Given the description of an element on the screen output the (x, y) to click on. 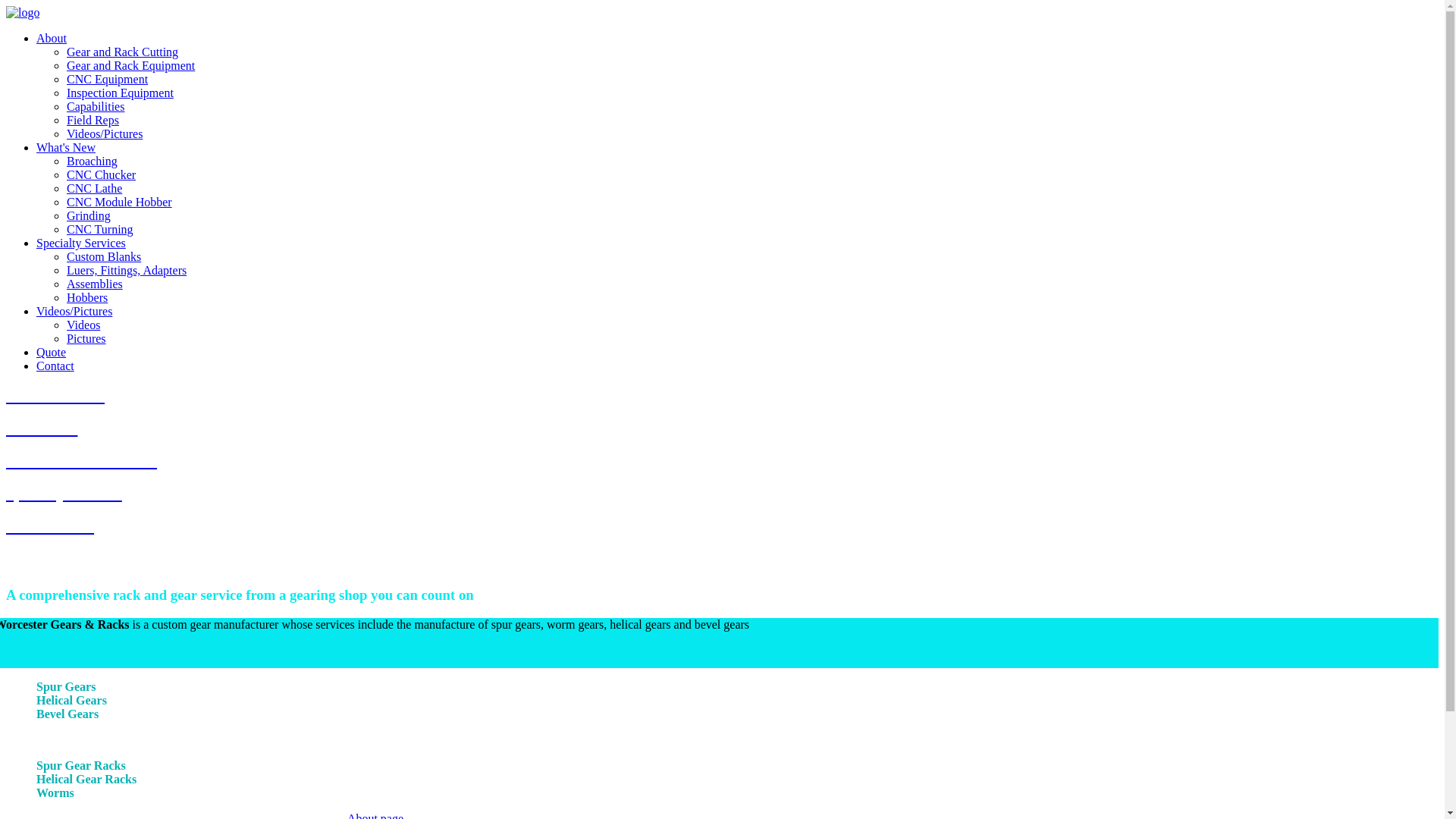
Contact (55, 365)
Specialty Services (80, 242)
CNC Turning (99, 228)
Gear and Rack Equipment (130, 65)
Quote (50, 351)
Luers, Fittings, Adapters (126, 269)
Custom Blanks (103, 256)
About page (375, 815)
Grinding (88, 215)
Assemblies (94, 283)
